Given the description of an element on the screen output the (x, y) to click on. 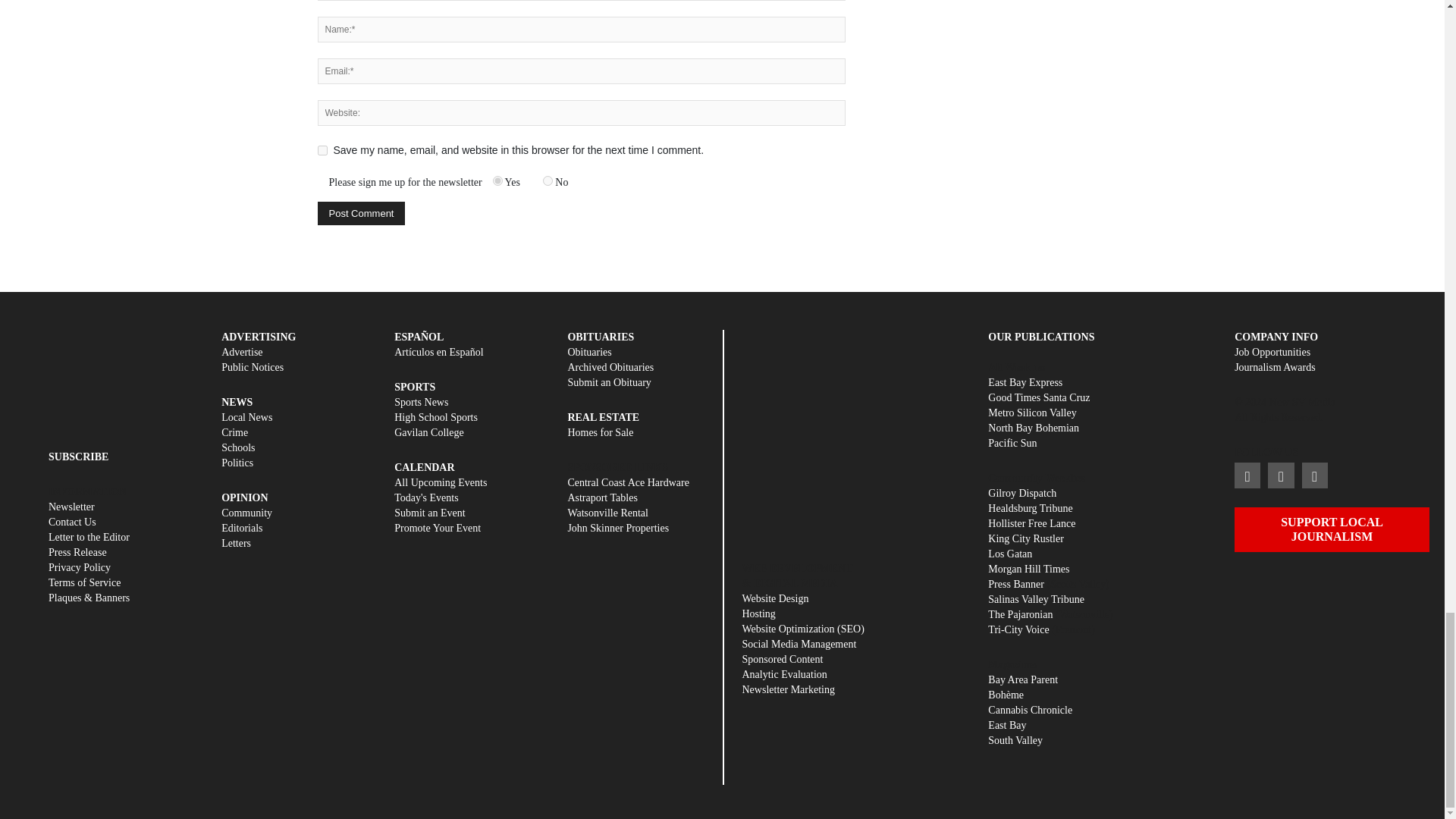
yes (321, 150)
No (548, 180)
Yes (497, 180)
Post Comment (360, 213)
